Given the description of an element on the screen output the (x, y) to click on. 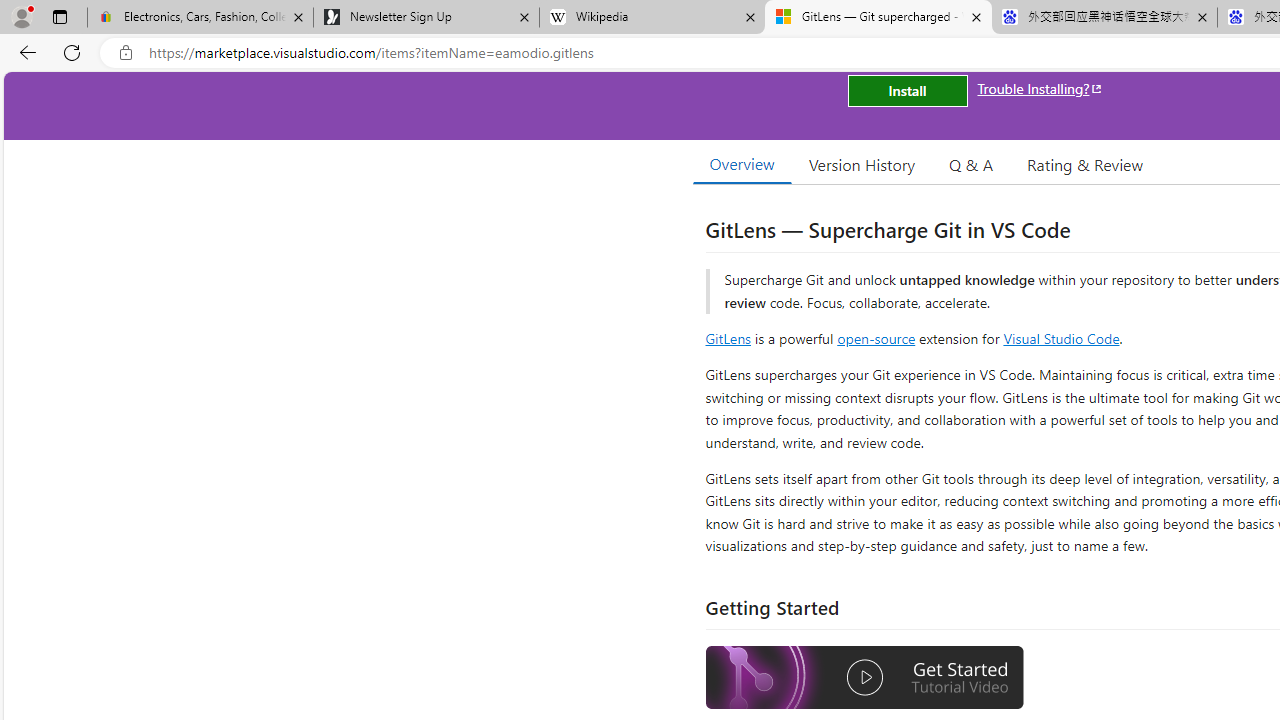
Q & A (971, 164)
Install (907, 90)
Watch the GitLens Getting Started video (865, 679)
Version History (862, 164)
Rating & Review (1084, 164)
Newsletter Sign Up (425, 17)
Watch the GitLens Getting Started video (865, 678)
Overview (742, 164)
